Given the description of an element on the screen output the (x, y) to click on. 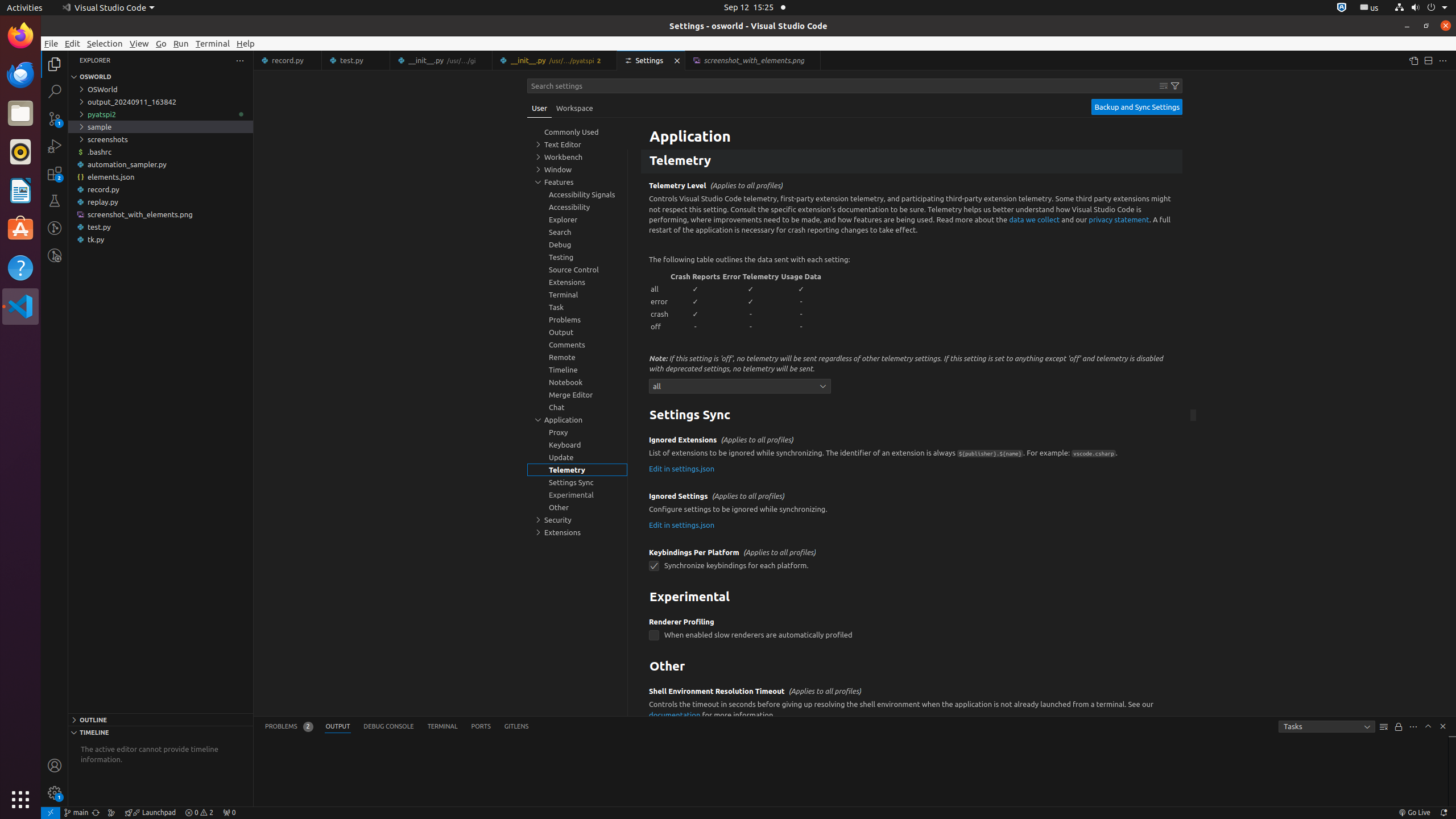
Other, group Element type: tree-item (577, 507)
Active View Switcher Element type: page-tab-list (396, 726)
Update, group Element type: tree-item (577, 457)
Keyboard, group Element type: tree-item (577, 444)
